Given the description of an element on the screen output the (x, y) to click on. 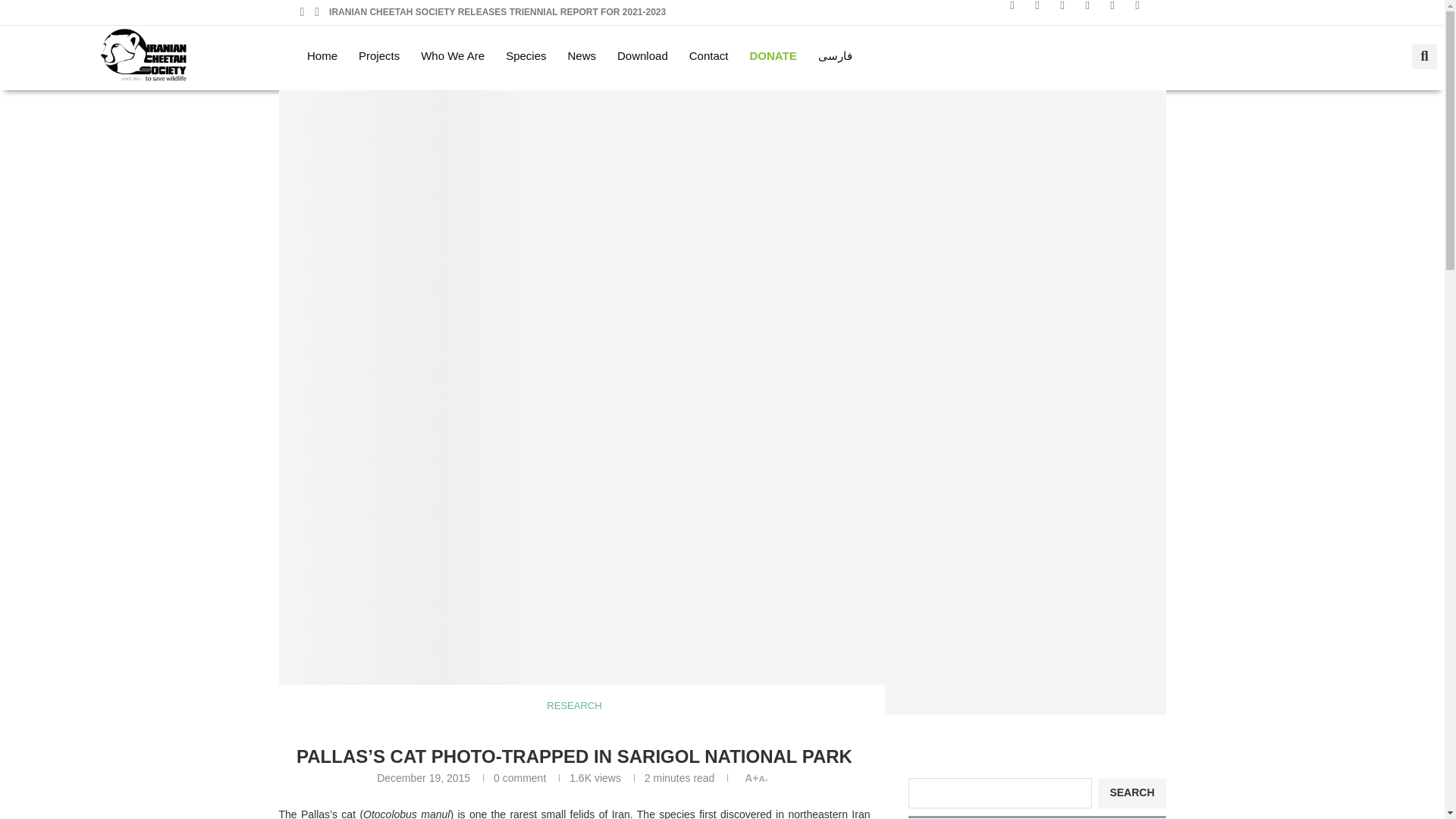
Contact (708, 55)
Projects (378, 55)
DONATE (772, 55)
News (581, 55)
Download (642, 55)
Who We Are (452, 55)
Species (525, 55)
Home (322, 55)
